Given the description of an element on the screen output the (x, y) to click on. 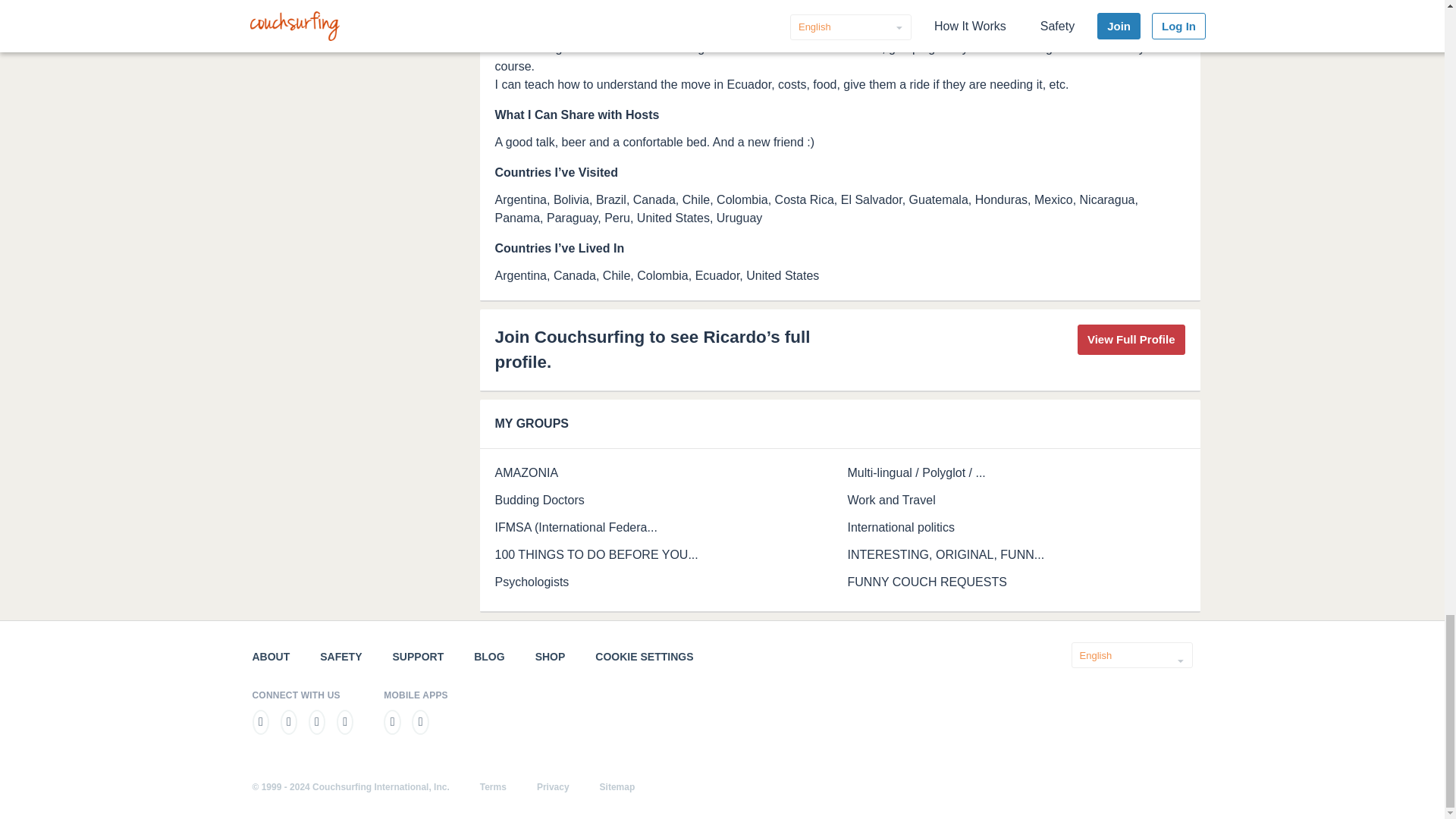
100 THINGS TO DO BEFORE YOU... (596, 554)
ABOUT (270, 656)
SAFETY (340, 656)
AMAZONIA (526, 472)
SHOP (550, 656)
International politics (901, 526)
Psychologists (532, 581)
View Full Profile (1131, 339)
FUNNY COUCH REQUESTS (927, 581)
Budding Doctors (539, 499)
INTERESTING, ORIGINAL, FUNN... (946, 554)
BLOG (488, 656)
Work and Travel (891, 499)
COOKIE SETTINGS (644, 656)
SUPPORT (418, 656)
